Given the description of an element on the screen output the (x, y) to click on. 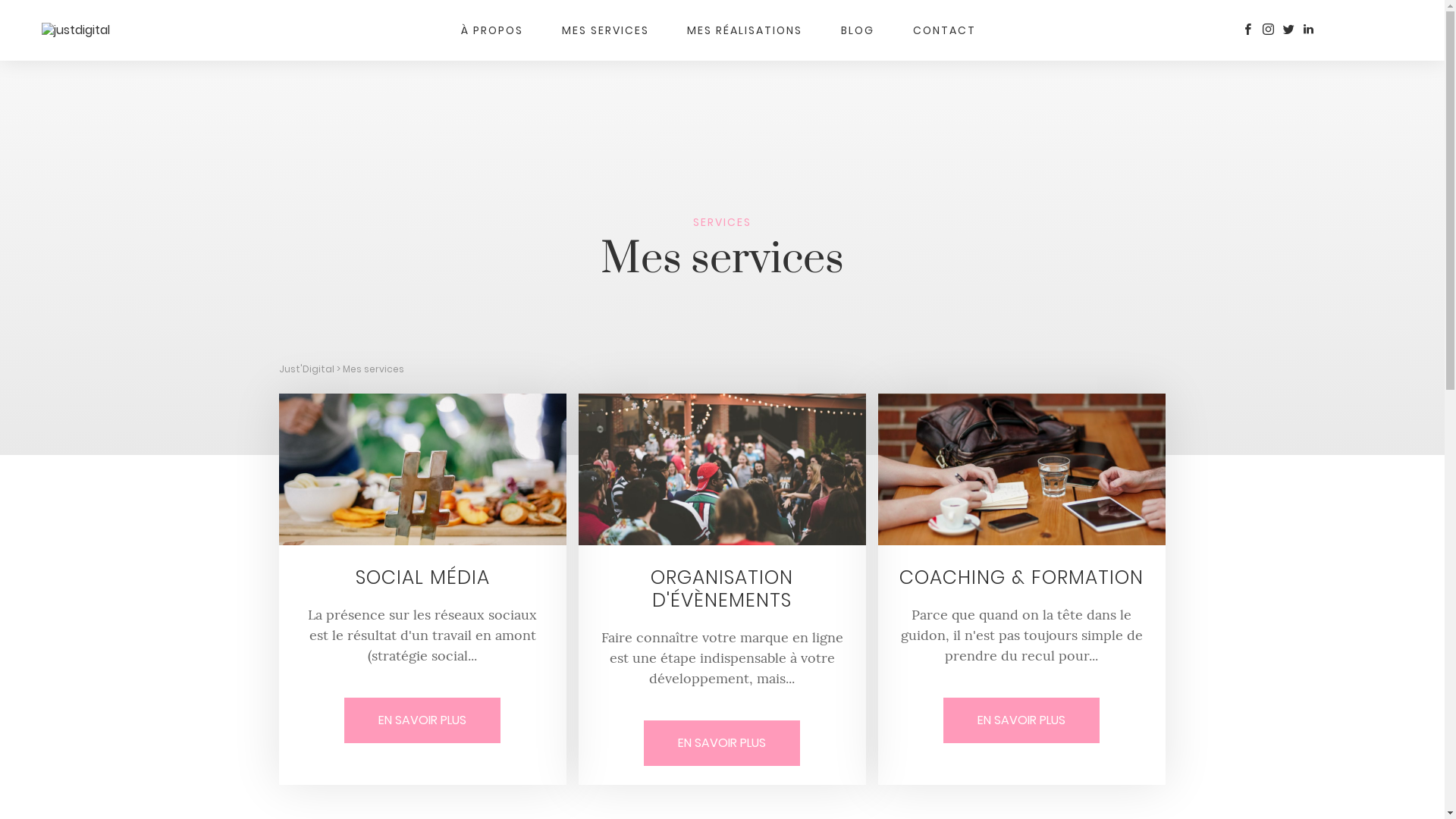
MES SERVICES Element type: text (605, 30)
CONTACT Element type: text (944, 30)
Just'Digital Element type: text (306, 369)
EN SAVOIR PLUS Element type: text (1021, 720)
BLOG Element type: text (857, 30)
EN SAVOIR PLUS Element type: text (422, 720)
EN SAVOIR PLUS Element type: text (721, 742)
